Given the description of an element on the screen output the (x, y) to click on. 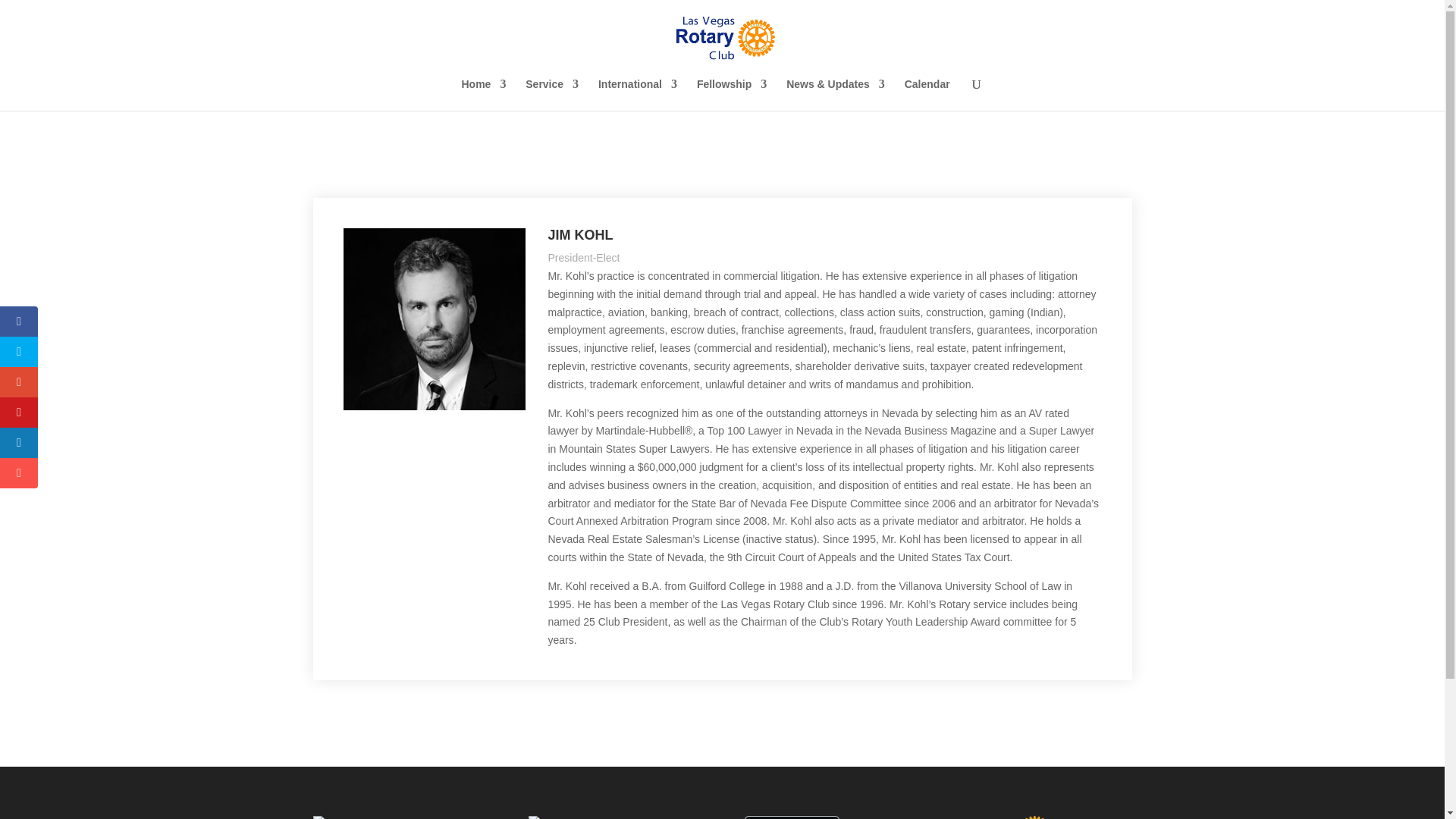
Service (551, 94)
International (637, 94)
Home (483, 94)
Fellowship (732, 94)
